Given the description of an element on the screen output the (x, y) to click on. 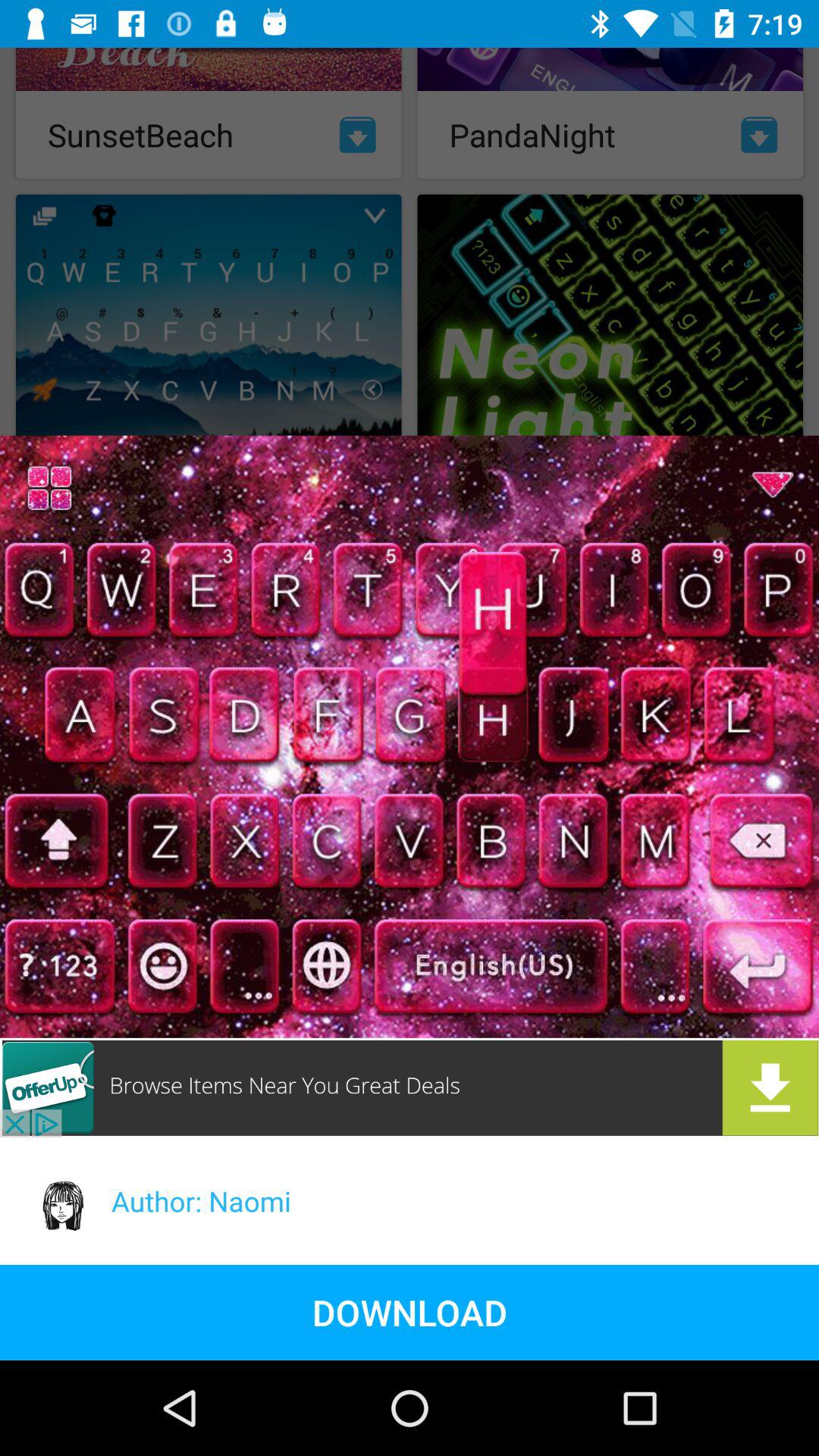
advertisemnt (409, 1087)
